Given the description of an element on the screen output the (x, y) to click on. 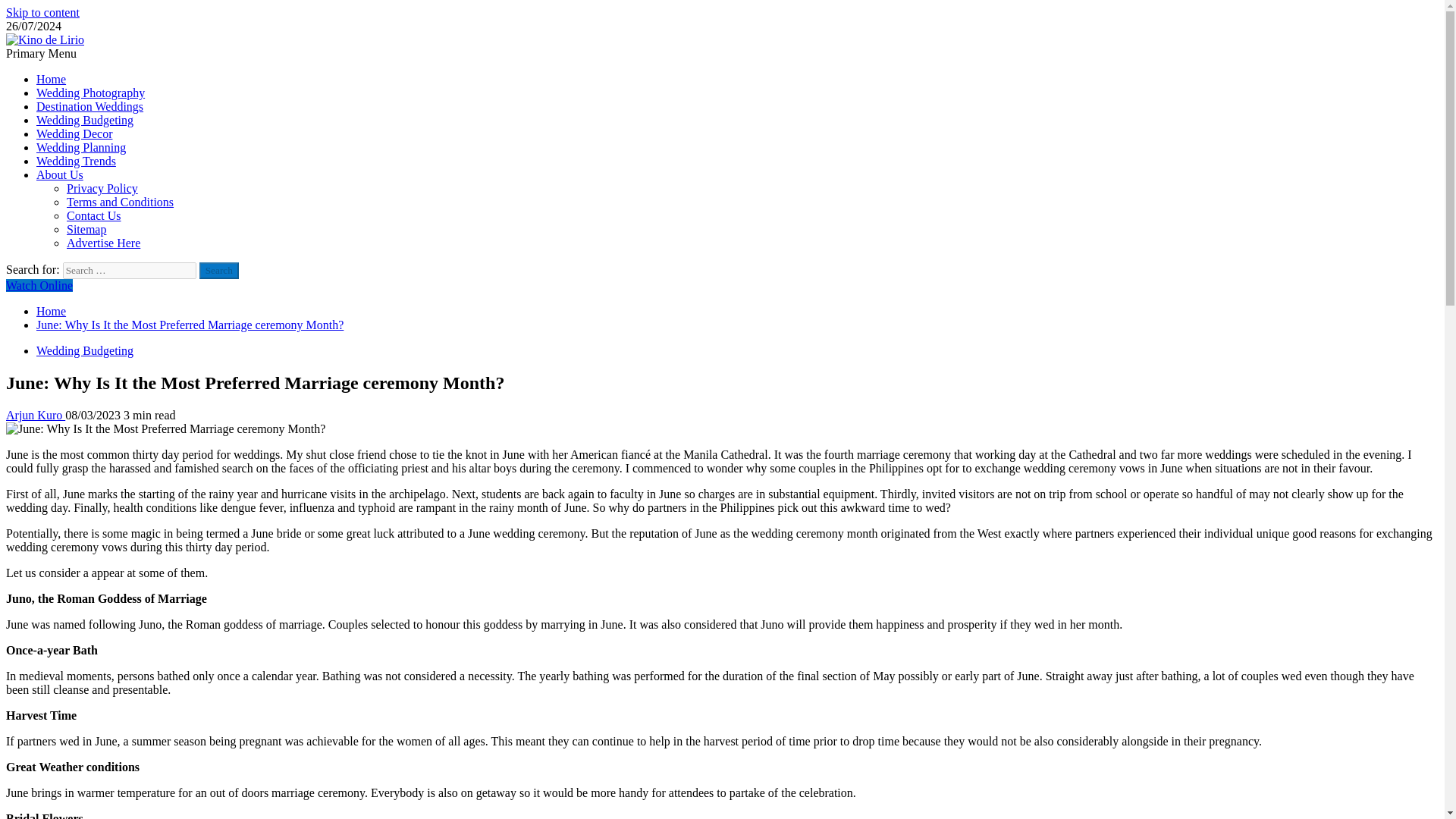
Wedding Budgeting (84, 350)
Watch Online (38, 285)
Home (50, 78)
June: Why Is It the Most Preferred Marriage ceremony Month? (189, 324)
Advertise Here (102, 242)
Arjun Kuro (35, 414)
Wedding Trends (76, 160)
Terms and Conditions (119, 201)
Wedding Budgeting (84, 119)
About Us (59, 174)
Skip to content (42, 11)
Sitemap (86, 228)
Contact Us (93, 215)
Home (50, 310)
Destination Weddings (89, 106)
